Given the description of an element on the screen output the (x, y) to click on. 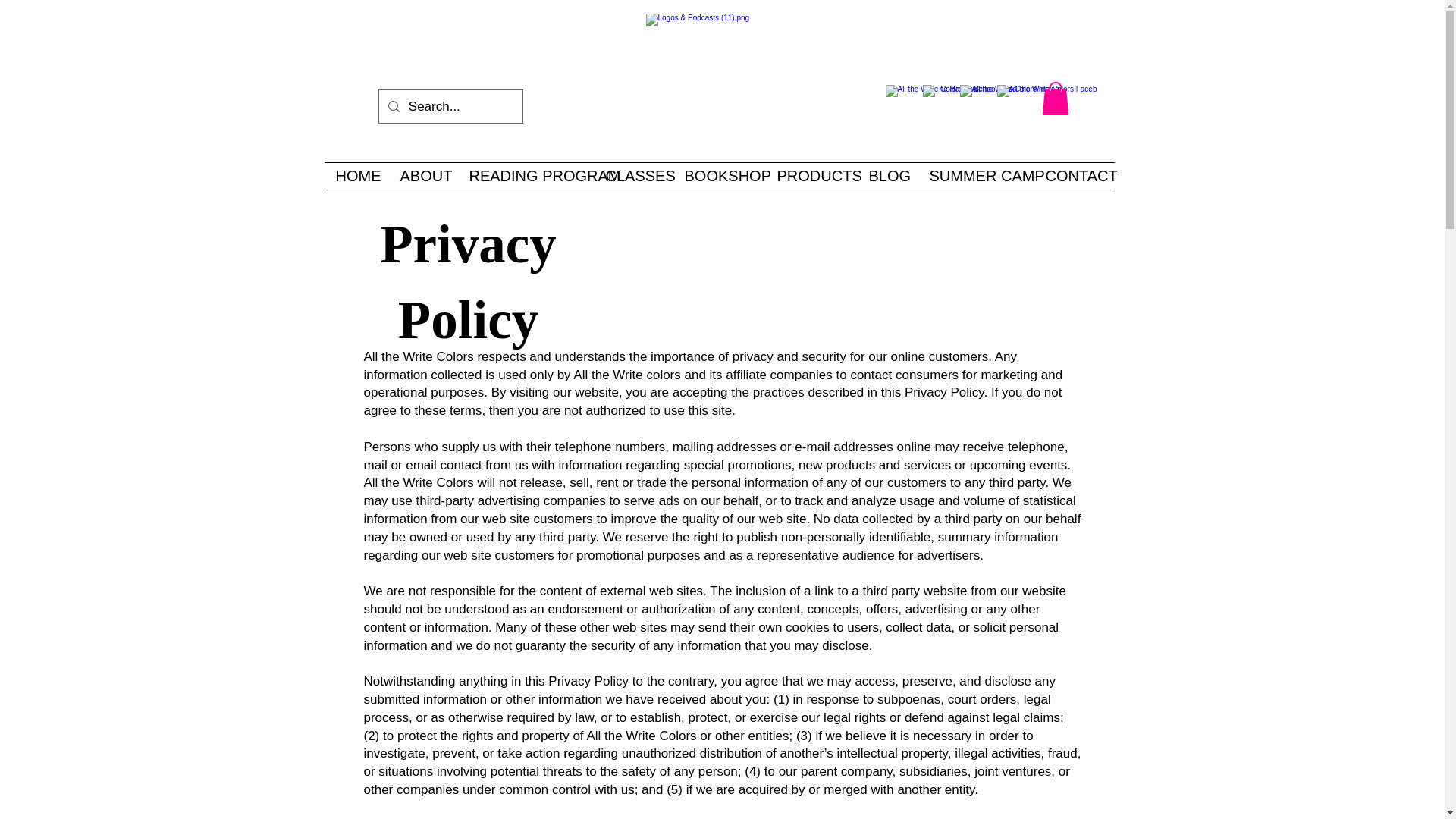
BLOG (887, 175)
CONTACT (1074, 175)
BOOKSHOP (718, 175)
PRODUCTS (811, 175)
READING PROGRAM (526, 175)
Screen Shot 2022-04-05 at 5.24.45 PM.png (722, 79)
ABOUT (422, 175)
HOME (356, 175)
CLASSES (633, 175)
SUMMER CAMP (975, 175)
